Given the description of an element on the screen output the (x, y) to click on. 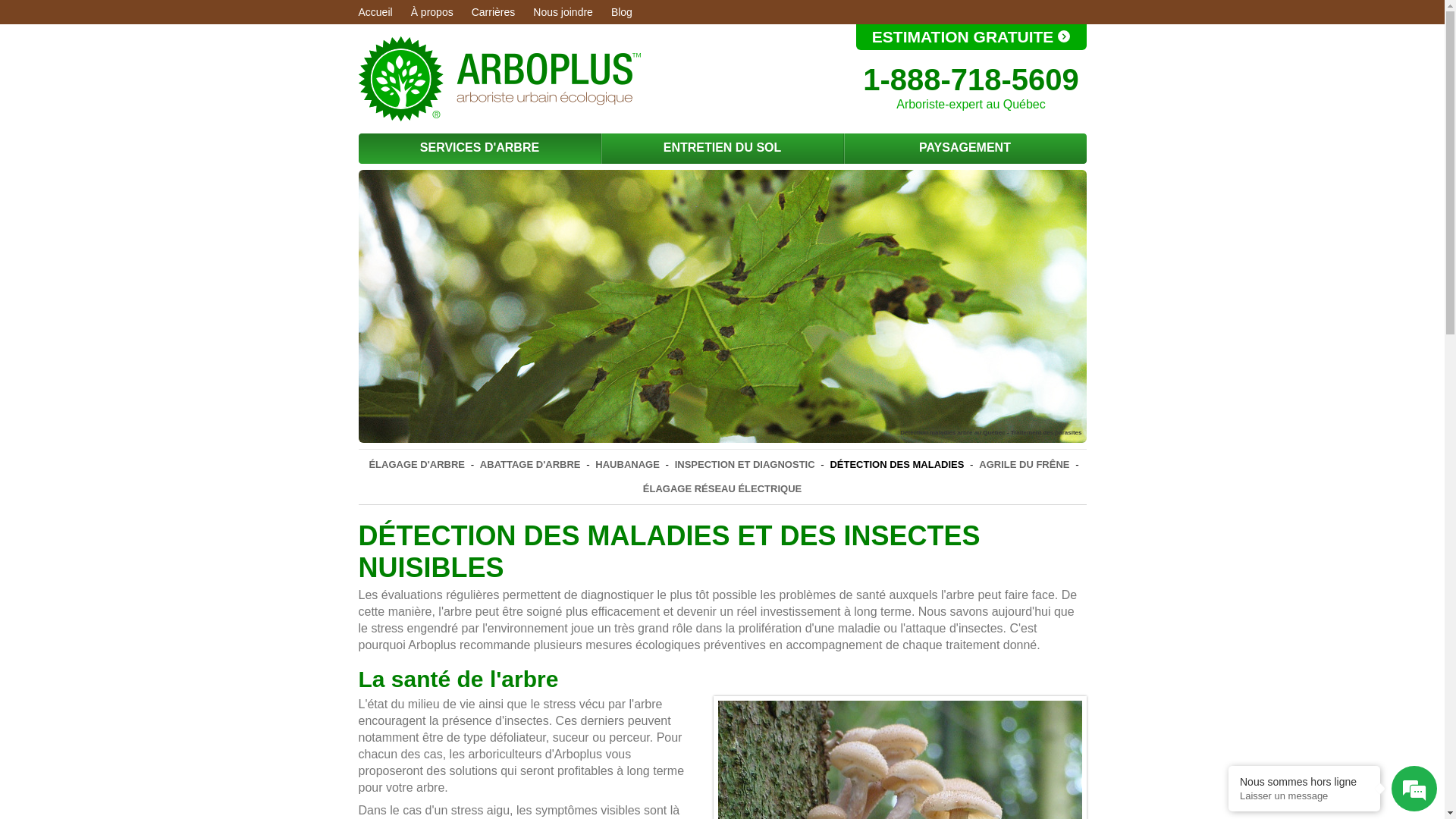
PAYSAGEMENT Element type: text (964, 148)
ENTRETIEN DU SOL Element type: text (721, 148)
ESTIMATION GRATUITE Element type: text (970, 37)
INSPECTION ET DIAGNOSTIC Element type: text (744, 464)
HAUBANAGE Element type: text (627, 464)
Demandez une estimation gratuite en ligne Element type: hover (1063, 36)
ABATTAGE D'ARBRE Element type: text (529, 464)
Nous joindre Element type: text (563, 12)
Blog Element type: text (621, 12)
Accueil Element type: text (374, 12)
SERVICES D'ARBRE Element type: text (478, 148)
